Given the description of an element on the screen output the (x, y) to click on. 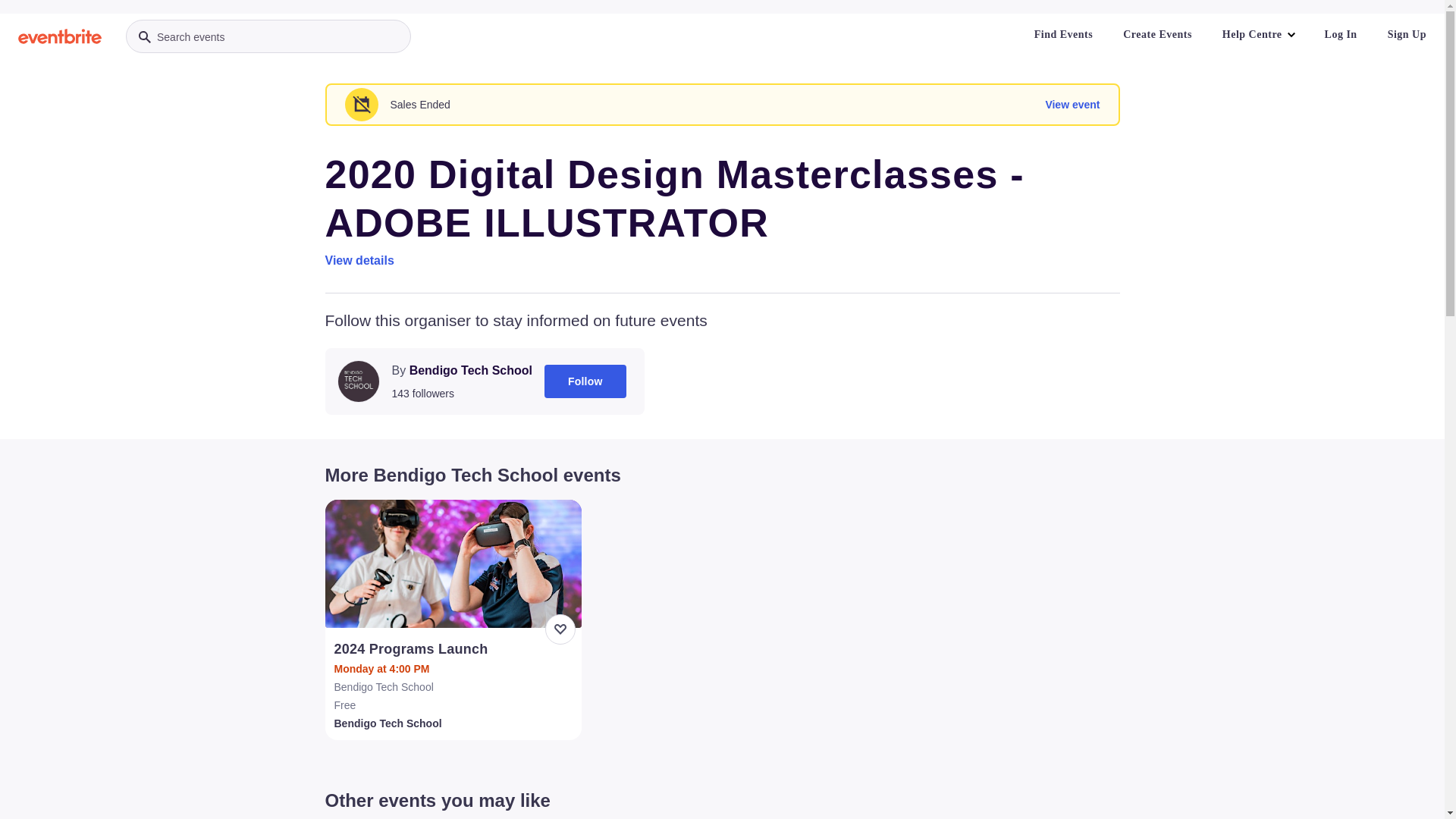
Search events Element type: text (268, 36)
Sign Up Element type: text (1406, 34)
Find Events Element type: text (1063, 34)
Log In Element type: text (1340, 34)
View event Element type: text (1071, 104)
View details Element type: text (358, 260)
Follow Element type: text (585, 381)
Eventbrite Element type: hover (59, 35)
2024 Programs Launch Element type: text (454, 649)
Create Events Element type: text (1157, 34)
